Given the description of an element on the screen output the (x, y) to click on. 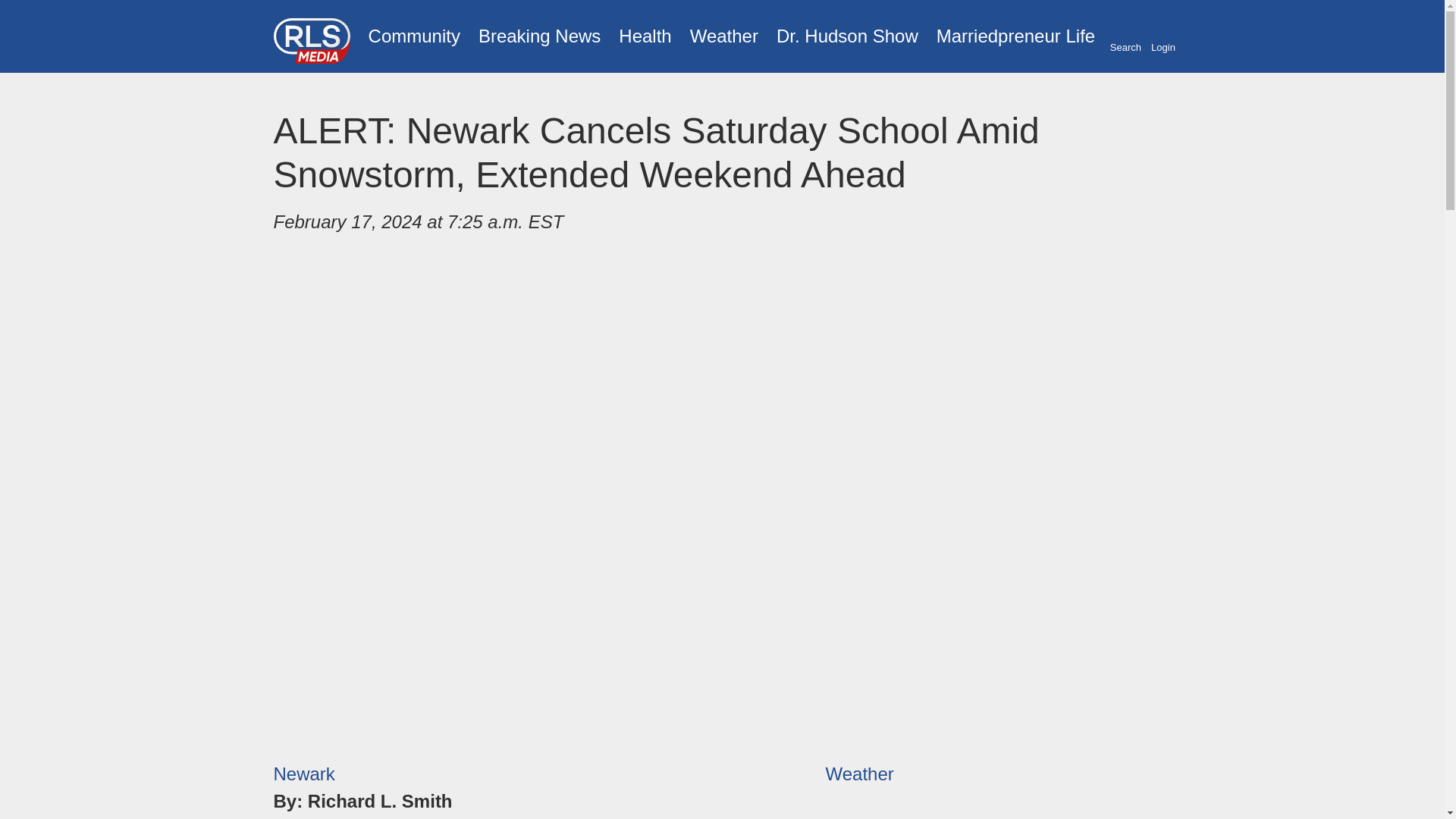
Community (413, 36)
Health News (644, 36)
Weather (724, 36)
Breaking News (539, 36)
Search (1125, 37)
Weather (859, 773)
Newark (303, 773)
Health (644, 36)
Local Weather (724, 36)
Community News (413, 36)
